Given the description of an element on the screen output the (x, y) to click on. 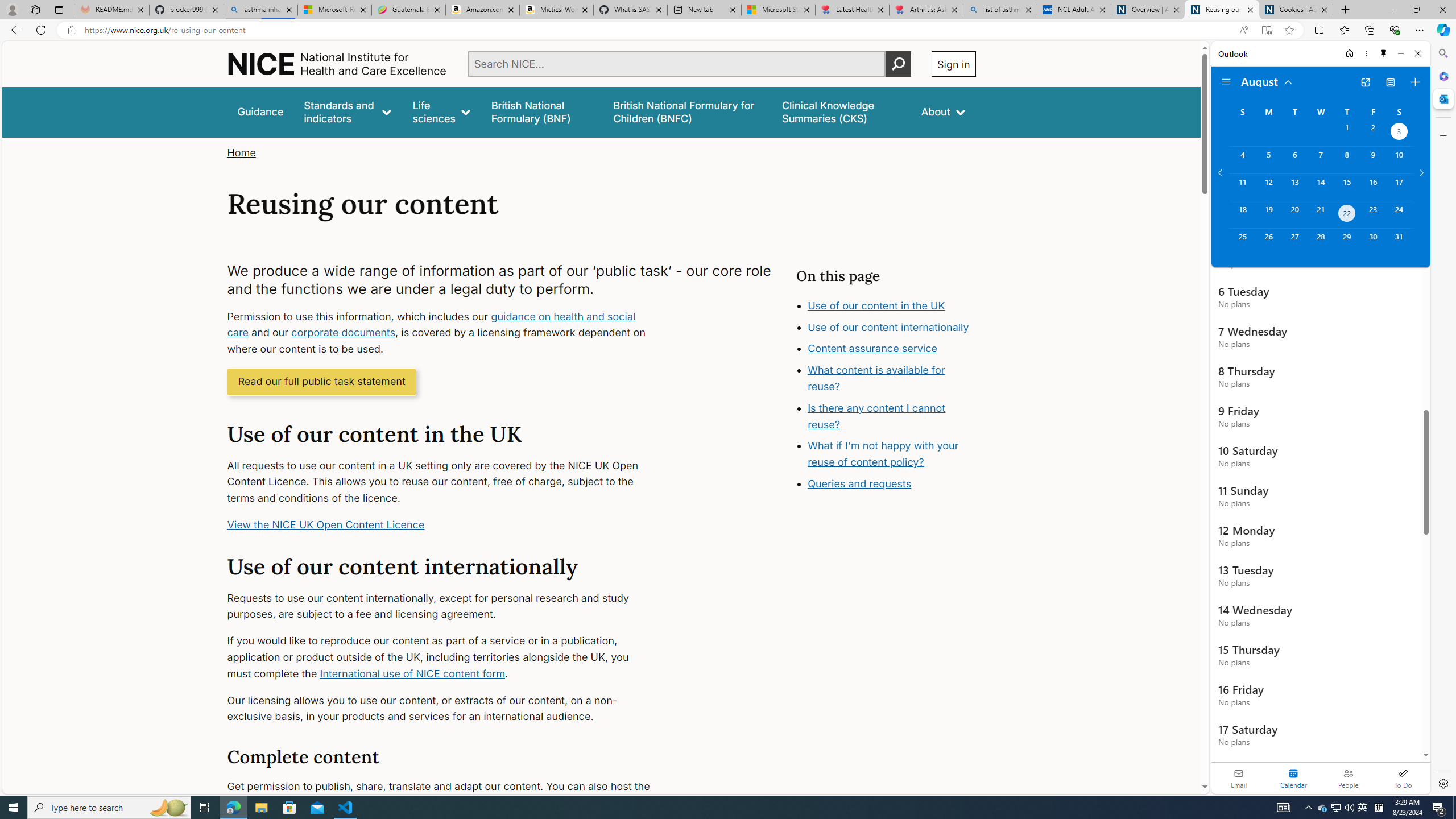
Tuesday, August 13, 2024.  (1294, 186)
Class: in-page-nav__list (884, 395)
View the NICE UK Open Content Licence (326, 524)
guidance on health and social care (431, 324)
Use of our content in the UK (876, 305)
Read our full public task statement (321, 381)
View Switcher. Current view is Agenda view (1390, 82)
